Given the description of an element on the screen output the (x, y) to click on. 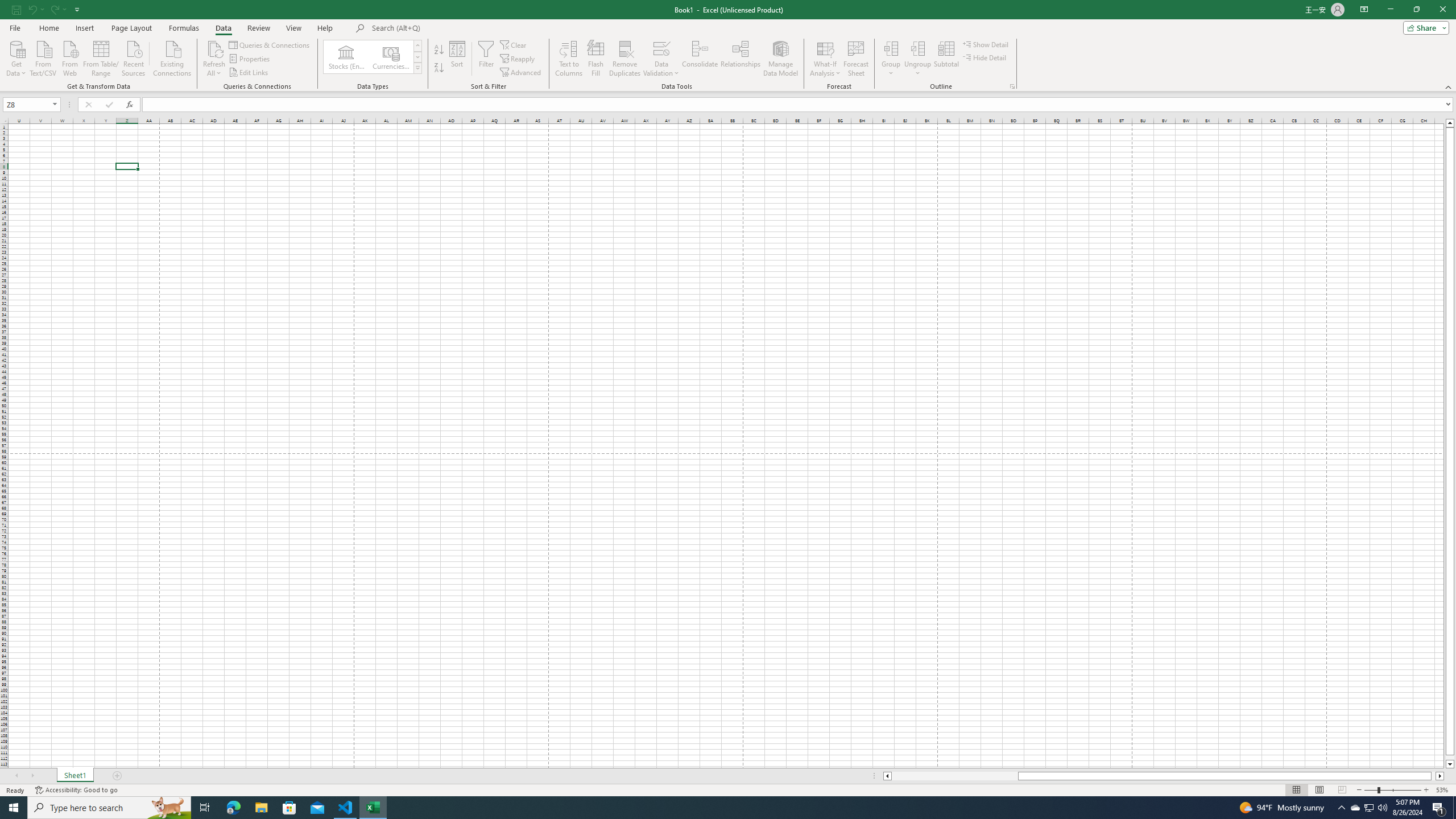
Existing Connections (171, 57)
What-If Analysis (825, 58)
Queries & Connections (270, 44)
From Web (69, 57)
Remove Duplicates (625, 58)
Sort Z to A (438, 67)
From Table/Range (100, 57)
Manage Data Model (780, 58)
